Given the description of an element on the screen output the (x, y) to click on. 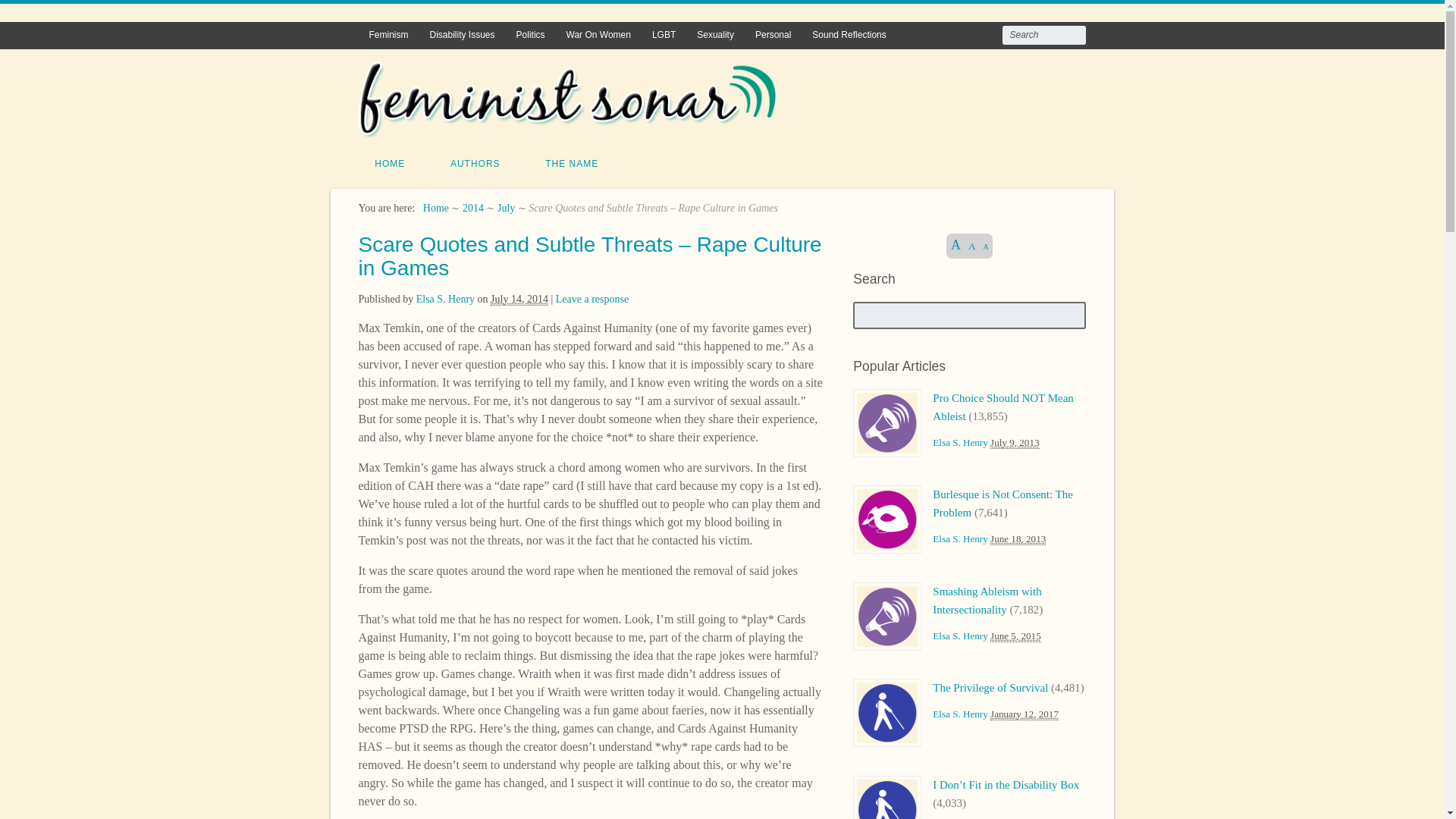
Sound Reflections (849, 35)
LGBT (663, 35)
2014 (473, 207)
Feminist Sonar (435, 207)
Elsa S. Henry (445, 298)
HOME (390, 163)
Monday, July 14th, 2014, 2:53 pm (519, 299)
Sexuality (714, 35)
2014 (473, 207)
Elsa S. Henry (445, 298)
July 2014 (506, 207)
AUTHORS (474, 163)
Personal (773, 35)
Leave a response (592, 298)
July (506, 207)
